Given the description of an element on the screen output the (x, y) to click on. 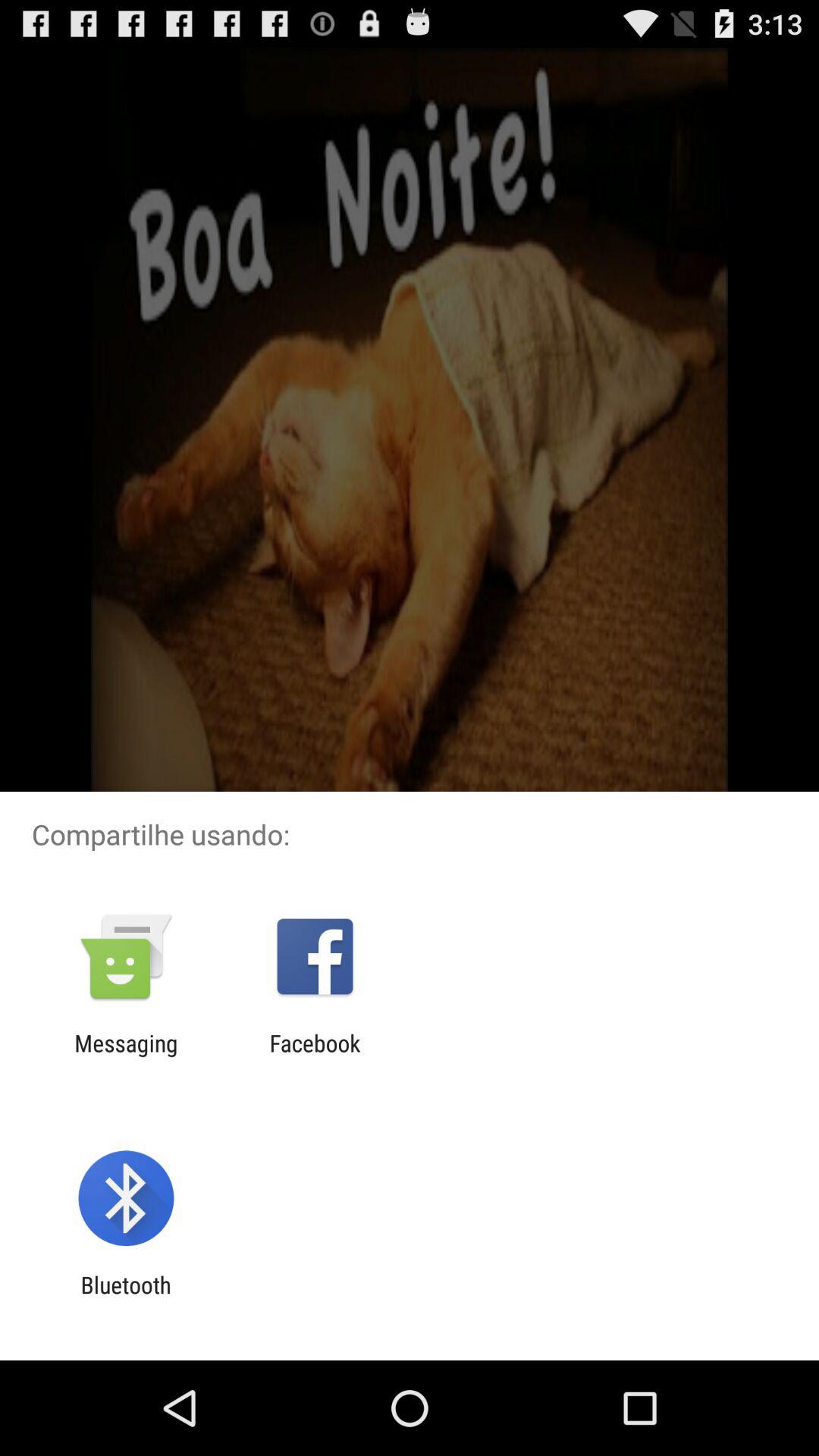
launch item to the left of facebook icon (126, 1056)
